Given the description of an element on the screen output the (x, y) to click on. 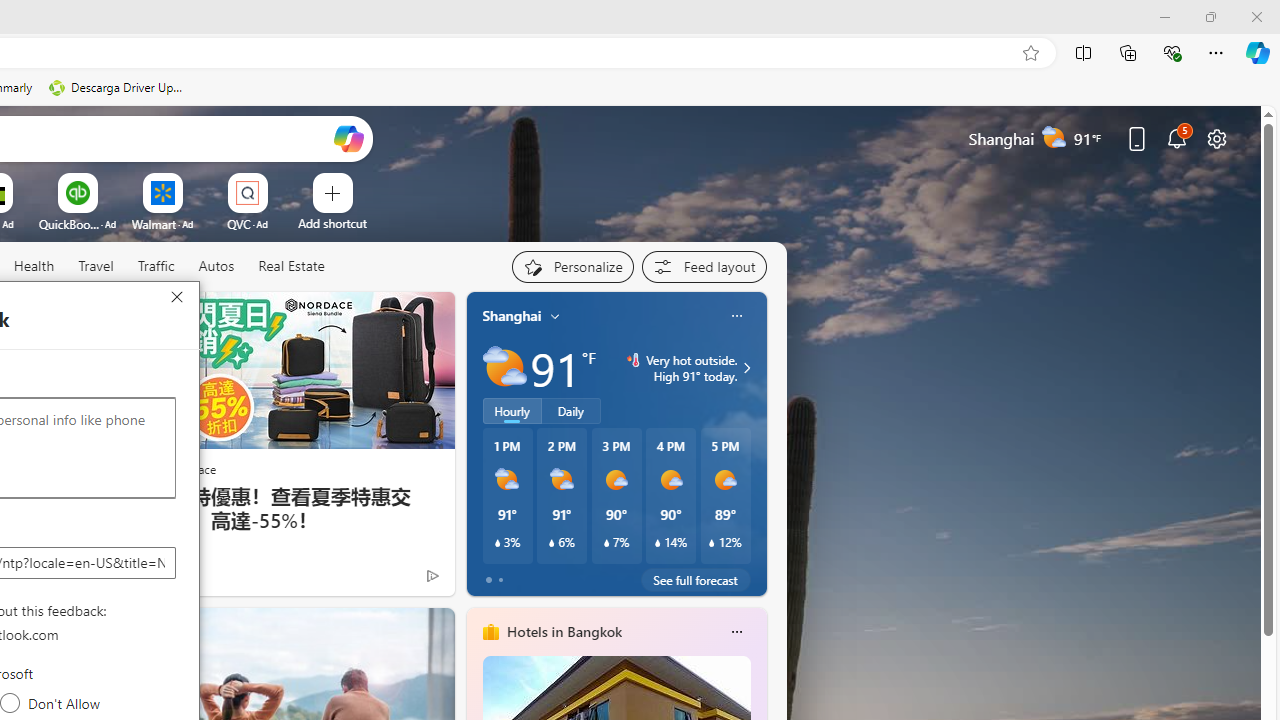
My location (555, 315)
Health (33, 267)
Shanghai (511, 315)
Partly sunny (504, 368)
Traffic (155, 265)
Hotels in Bangkok (563, 631)
Travel (95, 265)
